Given the description of an element on the screen output the (x, y) to click on. 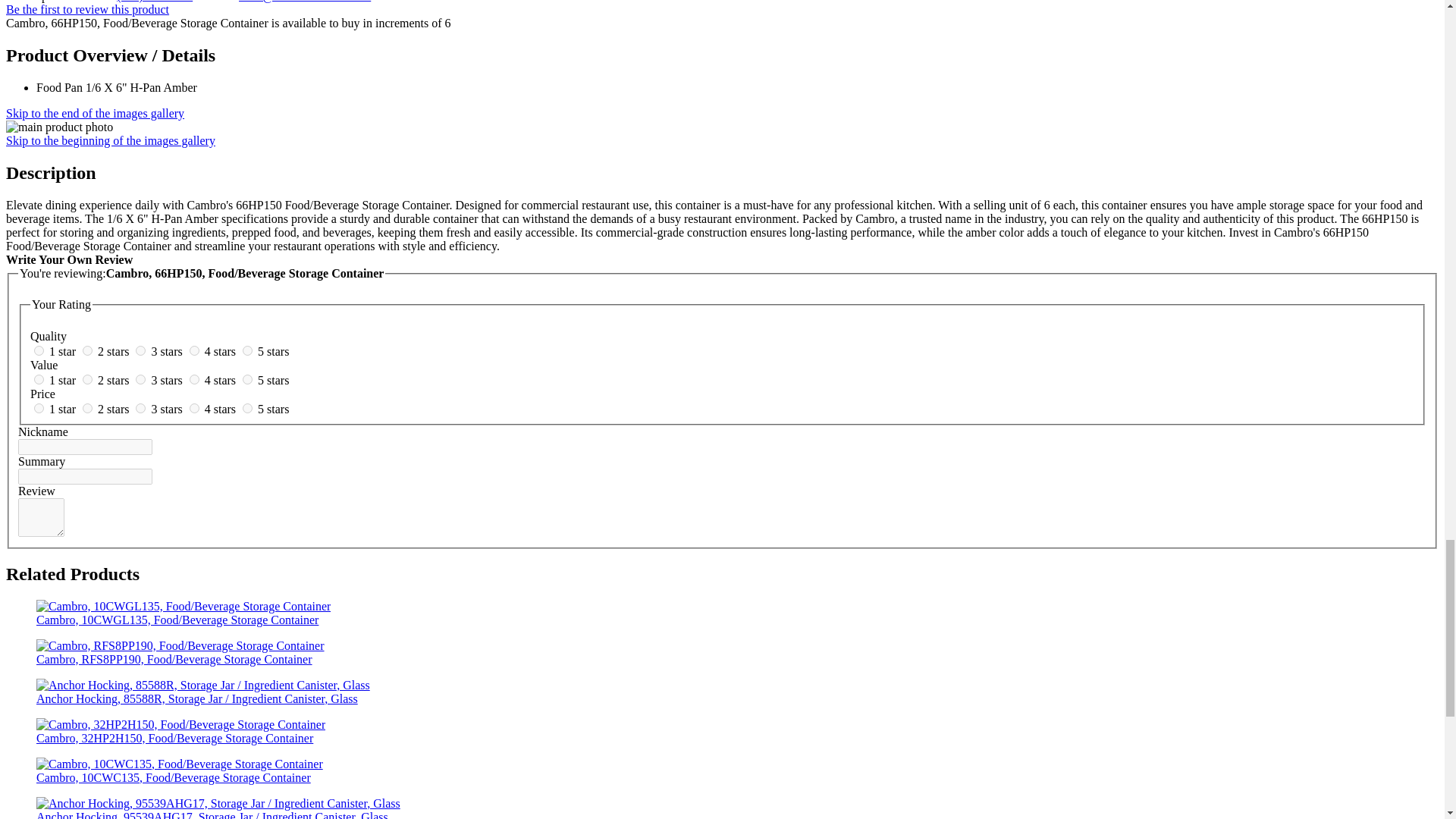
2 stars (114, 379)
1 star (63, 408)
13 (140, 408)
7 (87, 379)
2 stars (114, 350)
5 stars (272, 350)
4 stars (221, 379)
3 (140, 350)
5 stars (272, 379)
1 star (63, 379)
